Given the description of an element on the screen output the (x, y) to click on. 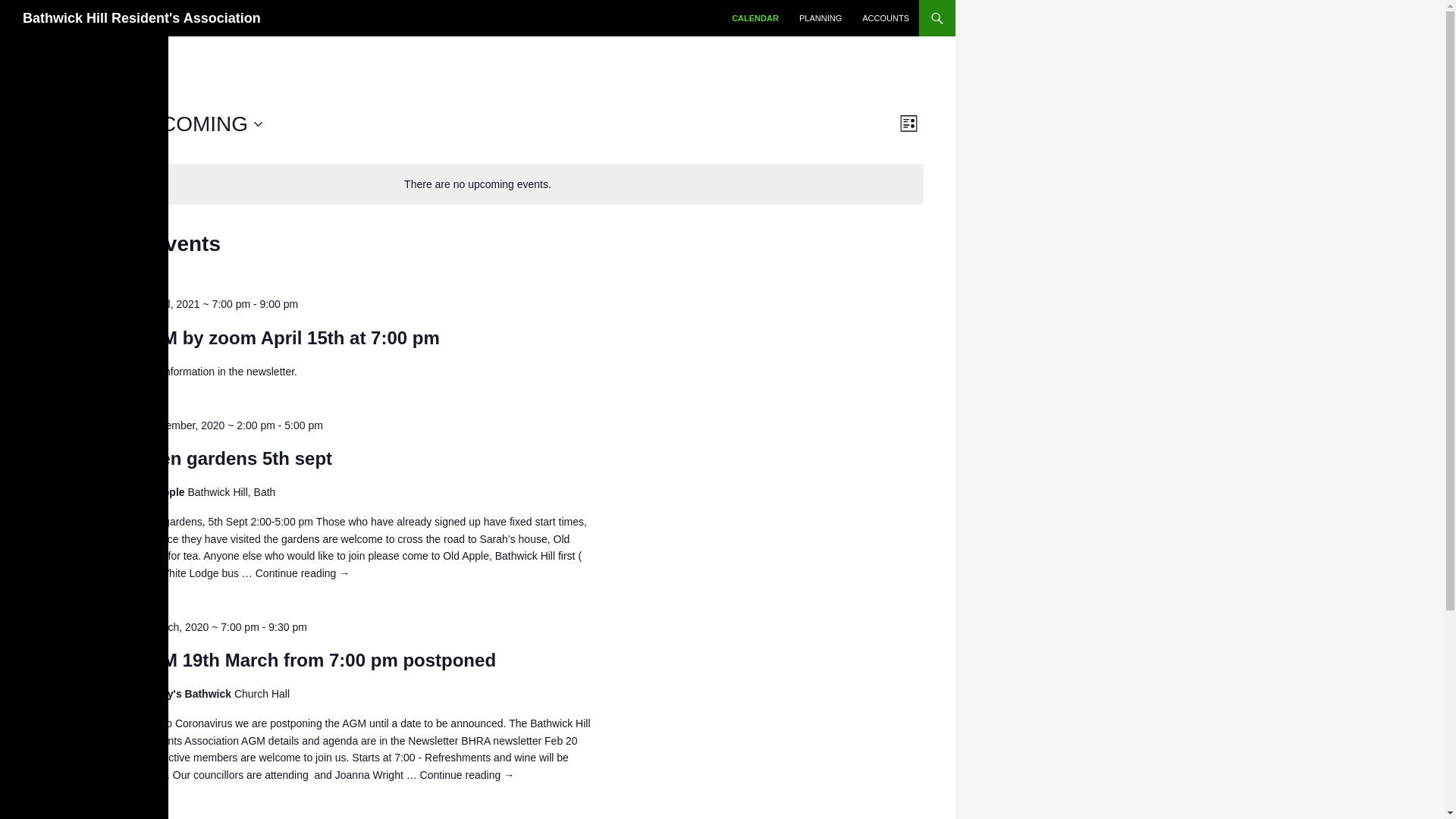
LIST (908, 123)
AGM by zoom April 15th at 7:00 pm (287, 337)
Bathwick Hill Resident's Association (141, 18)
Today (95, 124)
UPCOMING (196, 123)
Click to select today's date (95, 124)
CALENDAR (754, 18)
Open gardens 5th sept (233, 458)
AGM 19th March from 7:00 pm postponed (315, 660)
PLANNING (820, 18)
